Given the description of an element on the screen output the (x, y) to click on. 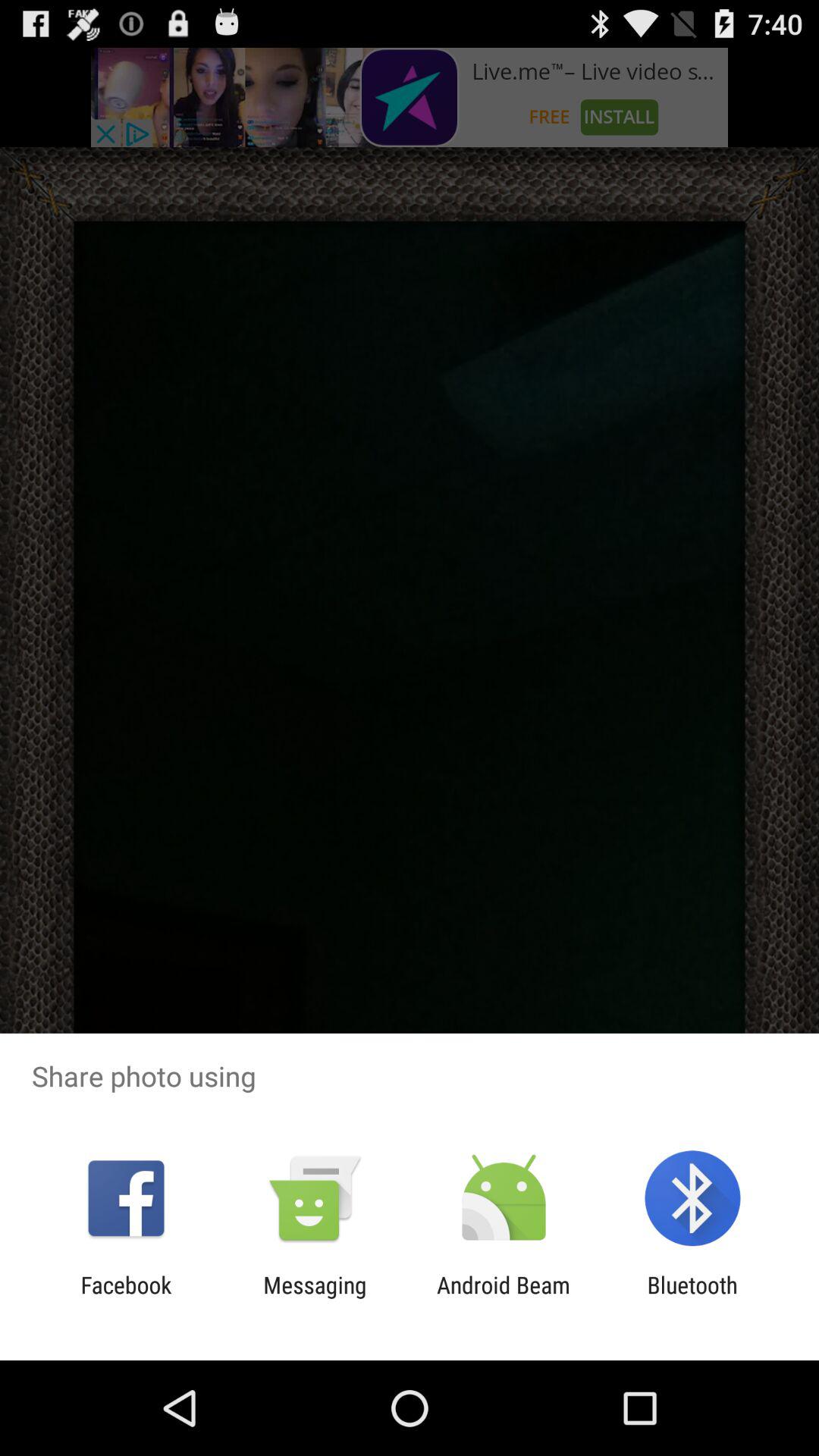
scroll until the messaging app (314, 1298)
